Given the description of an element on the screen output the (x, y) to click on. 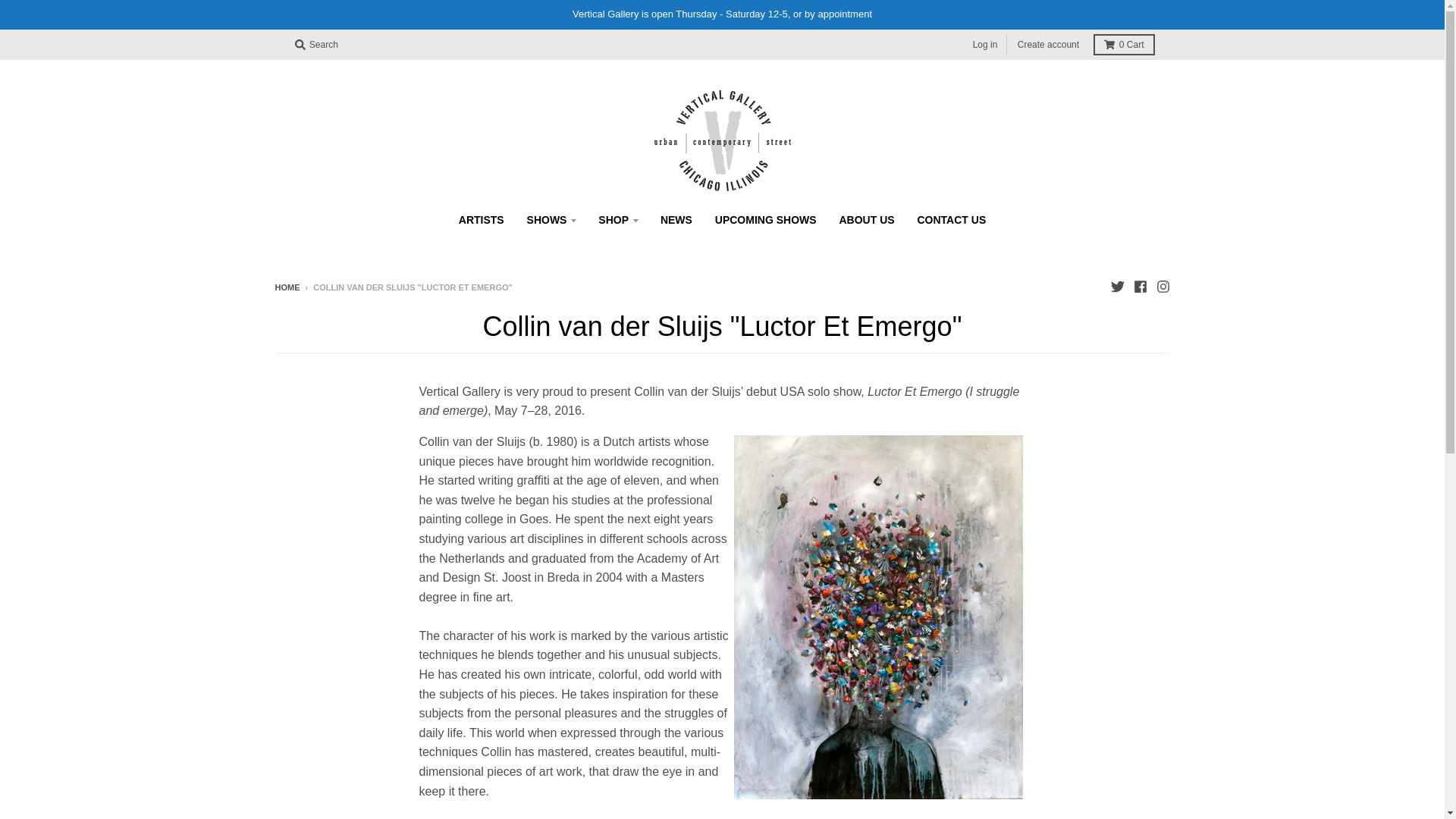
Back to the frontpage (287, 286)
ABOUT US (866, 219)
NEWS (675, 219)
SHOP (617, 219)
SHOWS (551, 219)
Search (315, 44)
CONTACT US (951, 219)
Log in (985, 45)
Create account (1048, 45)
UPCOMING SHOWS (765, 219)
ARTISTS (480, 219)
Twitter - Vertical Gallery (1116, 286)
Facebook - Vertical Gallery (1139, 286)
Instagram - Vertical Gallery (1162, 286)
0 Cart (1123, 44)
